Given the description of an element on the screen output the (x, y) to click on. 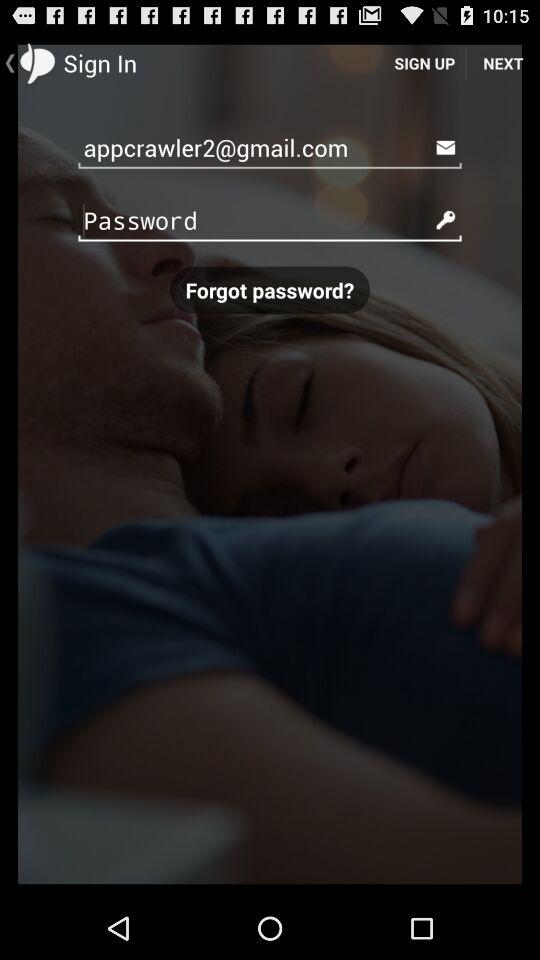
press the item to the right of sign up (503, 62)
